Given the description of an element on the screen output the (x, y) to click on. 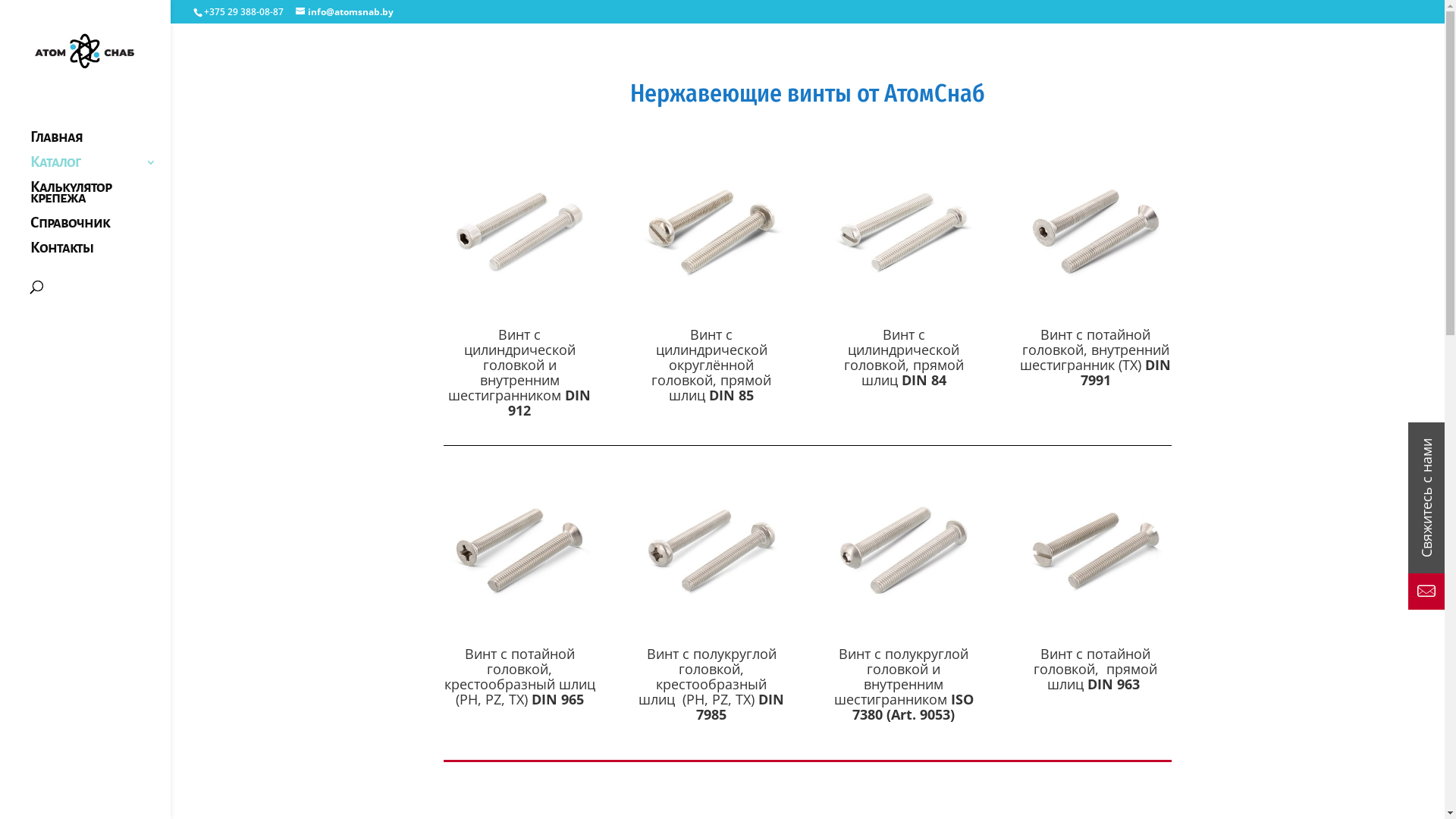
info@atomsnab.by Element type: text (344, 11)
